Given the description of an element on the screen output the (x, y) to click on. 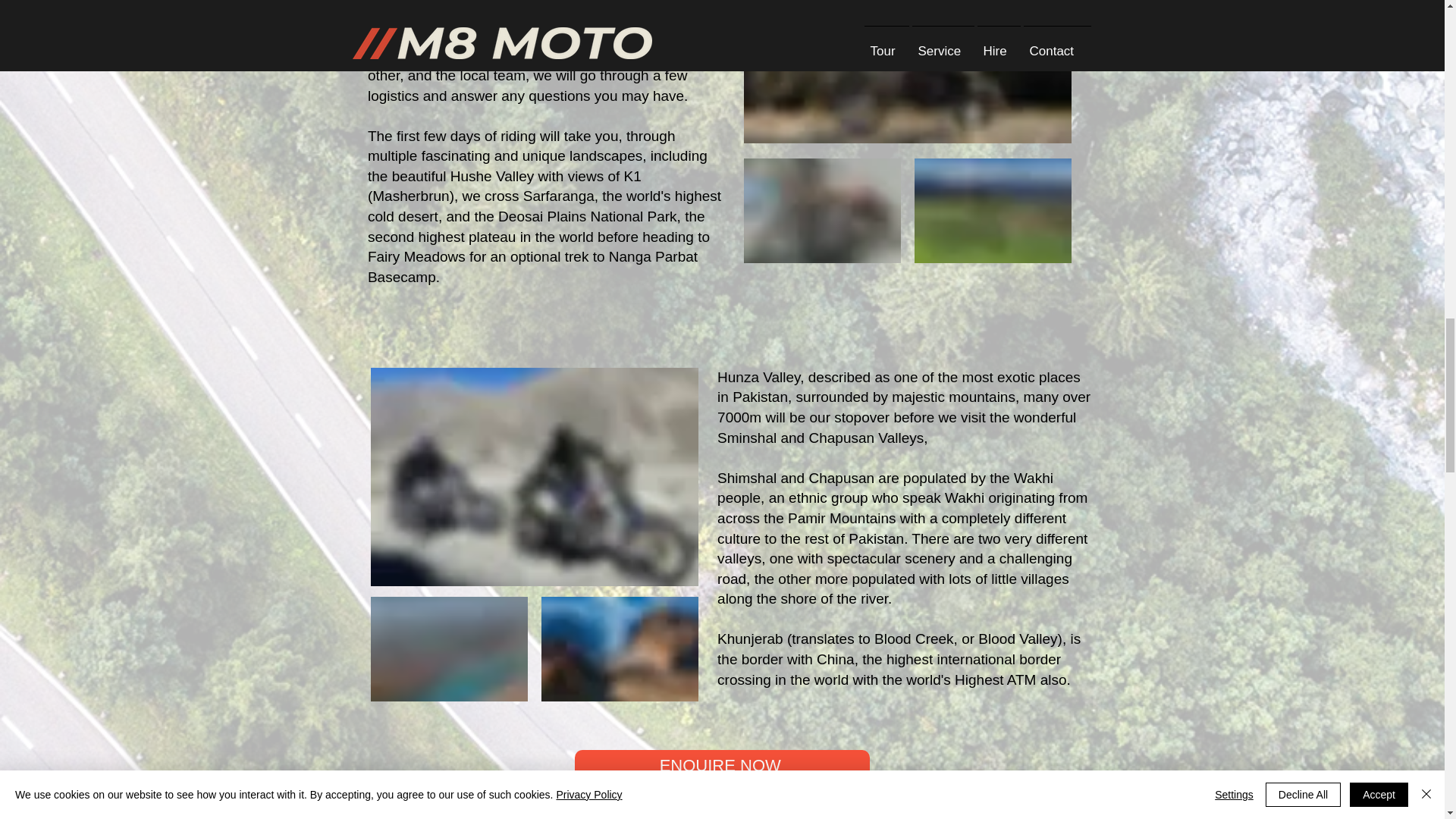
M8 MOTO (907, 71)
M8 MOTO (619, 649)
ENQUIRE NOW (722, 766)
M8 MOTO (822, 210)
M8 MOTO (449, 649)
M8 MOTO (534, 476)
M8 MOTO (992, 210)
